Given the description of an element on the screen output the (x, y) to click on. 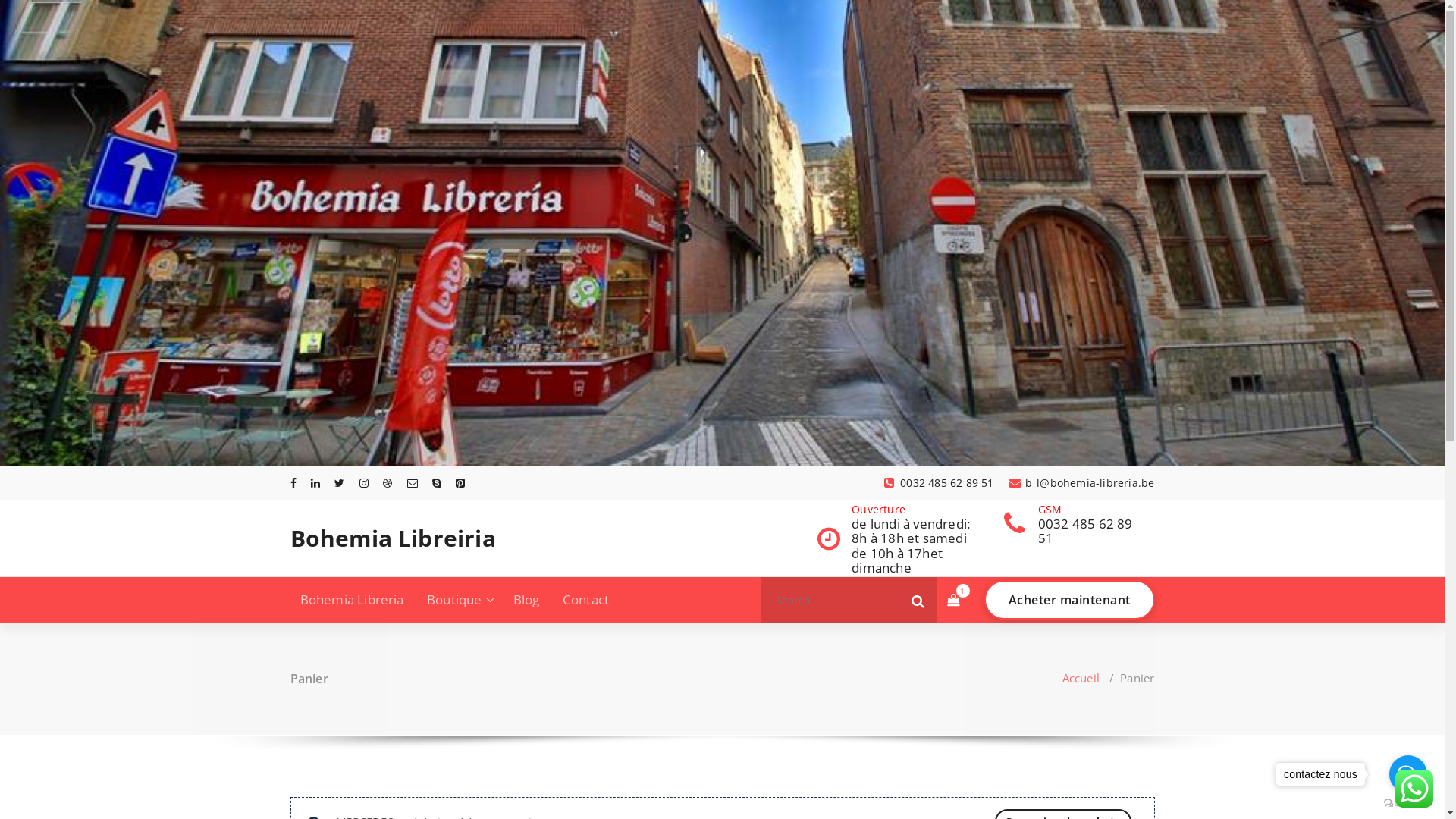
0032 485 62 89 51 Element type: text (939, 482)
b_l@bohemia-libreria.be Element type: text (1081, 482)
Bohemia Libreiria Element type: text (392, 538)
Boutique Element type: text (458, 599)
GSM
0032 485 62 89 51 Element type: text (1091, 524)
Contact Element type: text (585, 599)
1 Element type: text (952, 600)
Bohemia Libreria Element type: text (351, 599)
Blog Element type: text (526, 599)
Acheter maintenant Element type: text (1069, 599)
Accueil Element type: text (1080, 677)
